Given the description of an element on the screen output the (x, y) to click on. 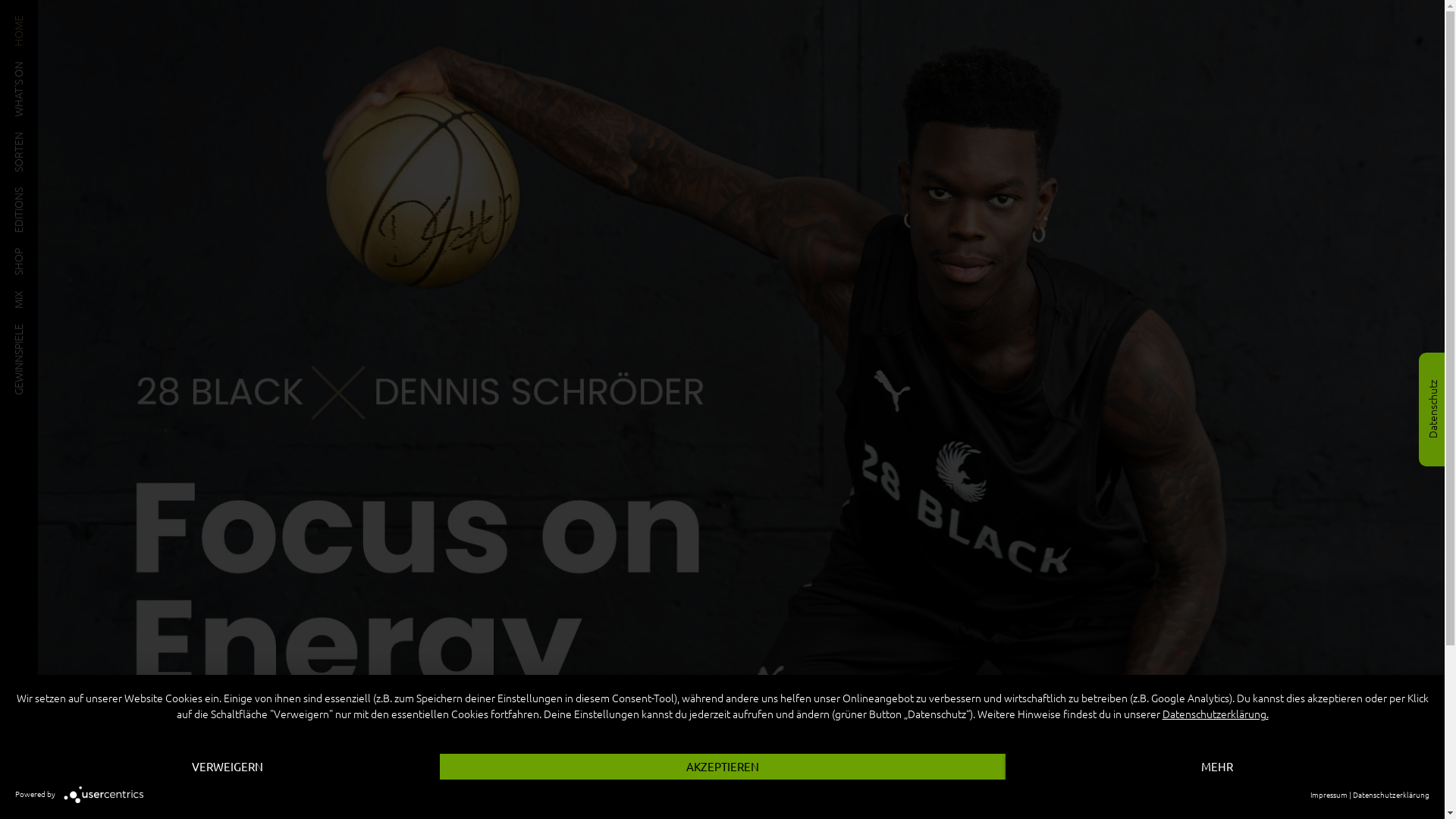
SORTEN Element type: text (33, 136)
GEWINNSPIELE Element type: text (48, 328)
icon-instagram.svg Element type: hover (18, 757)
MIX Element type: text (22, 295)
icon-youtube.svg Element type: hover (18, 800)
AKZEPTIEREN Element type: text (722, 766)
icon-facebook.svg Element type: hover (18, 778)
SHOP Element type: text (26, 252)
WHAT'S ON Element type: text (41, 66)
MEHR Element type: text (1217, 766)
VERWEIGERN Element type: text (227, 766)
EDITIONS Element type: text (36, 192)
Impressum Element type: text (1328, 794)
